Given the description of an element on the screen output the (x, y) to click on. 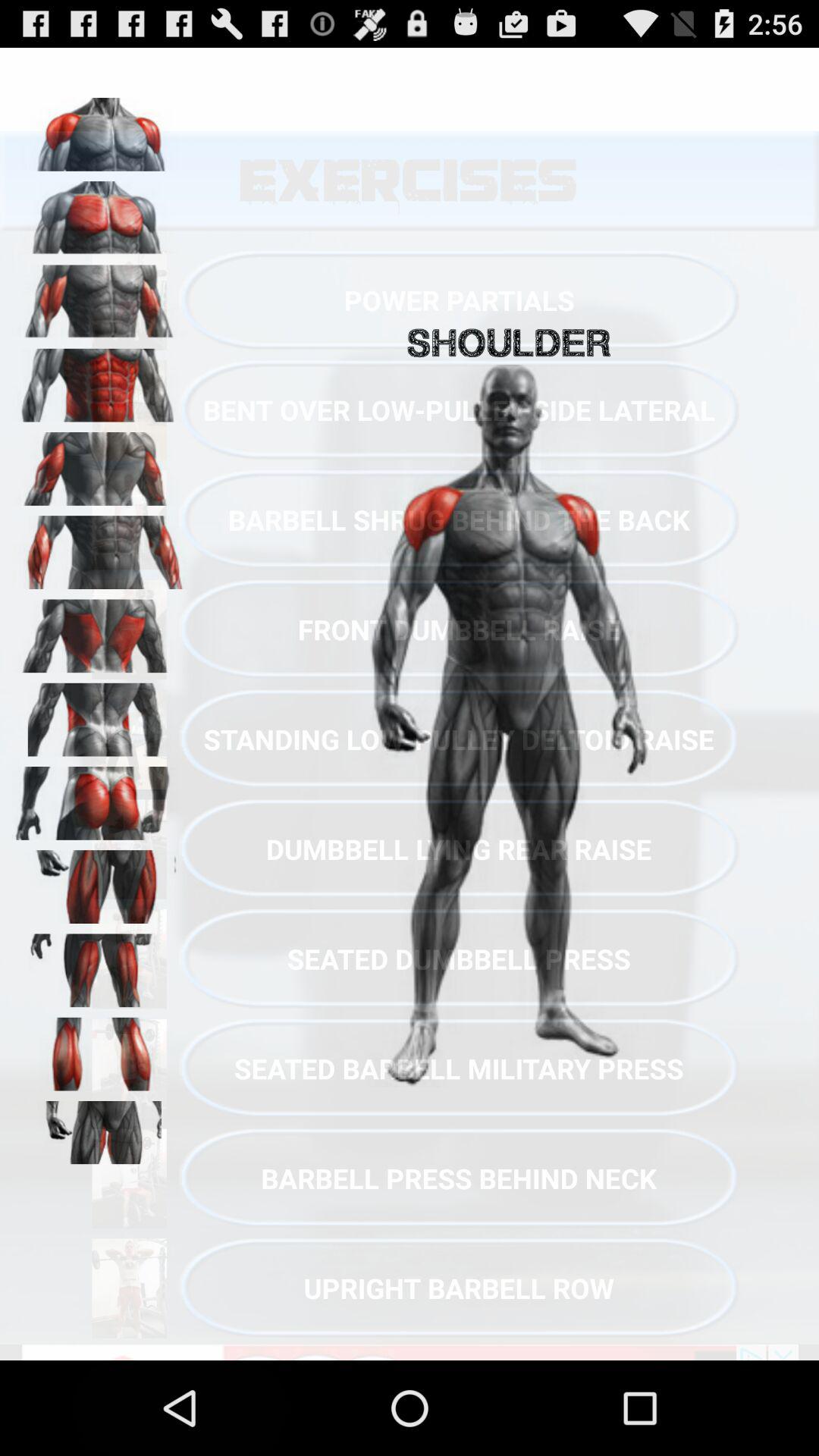
pectoral muscle (99, 212)
